Given the description of an element on the screen output the (x, y) to click on. 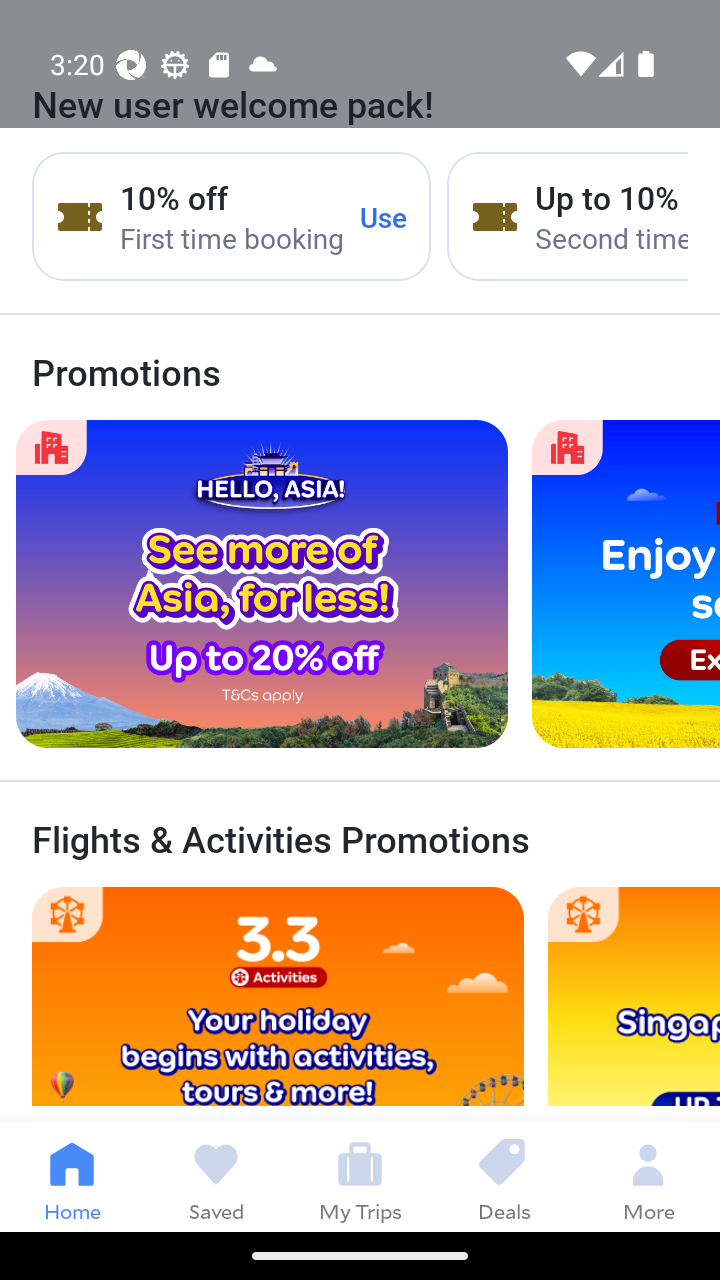
Use (384, 216)
Home (72, 1176)
Saved (216, 1176)
My Trips (360, 1176)
Deals (504, 1176)
More (648, 1176)
